Given the description of an element on the screen output the (x, y) to click on. 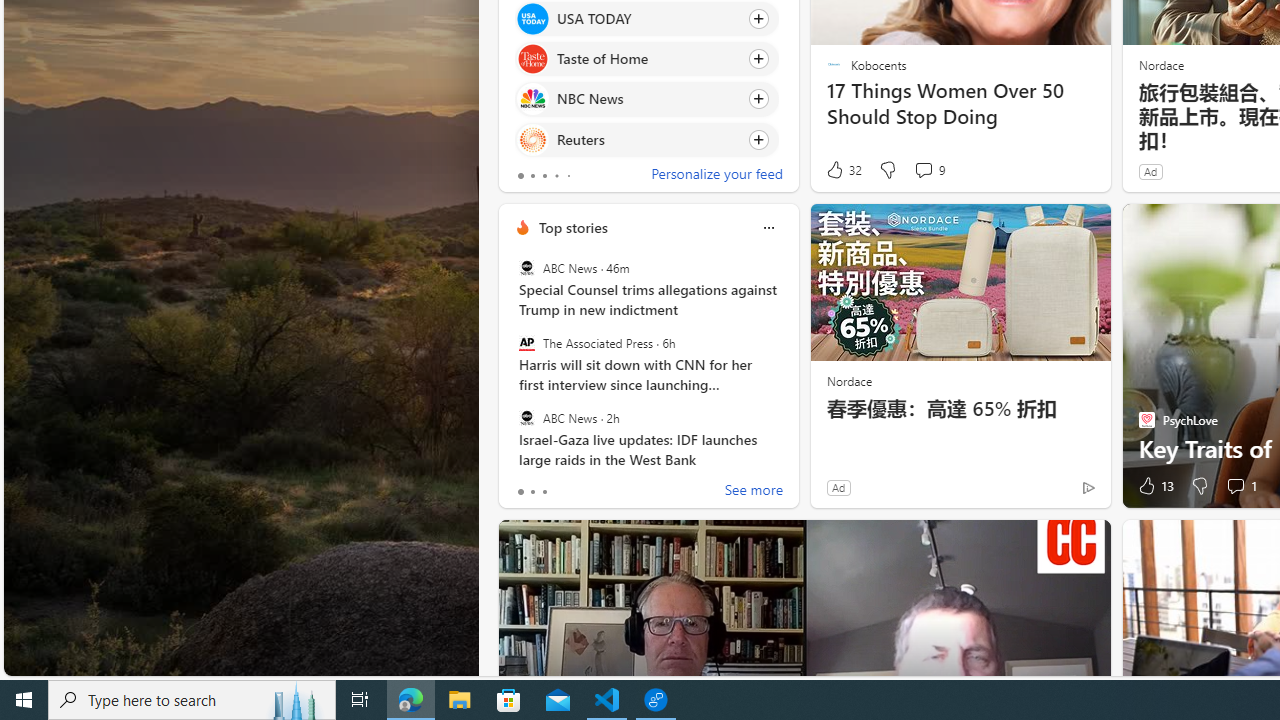
32 Like (843, 170)
Click to follow source NBC News (646, 99)
More options (768, 227)
Taste of Home (532, 59)
USA TODAY (532, 18)
tab-4 (567, 175)
Click to follow source Taste of Home (646, 59)
ABC News (526, 417)
Click to follow source USA TODAY (646, 18)
NBC News (532, 98)
